Given the description of an element on the screen output the (x, y) to click on. 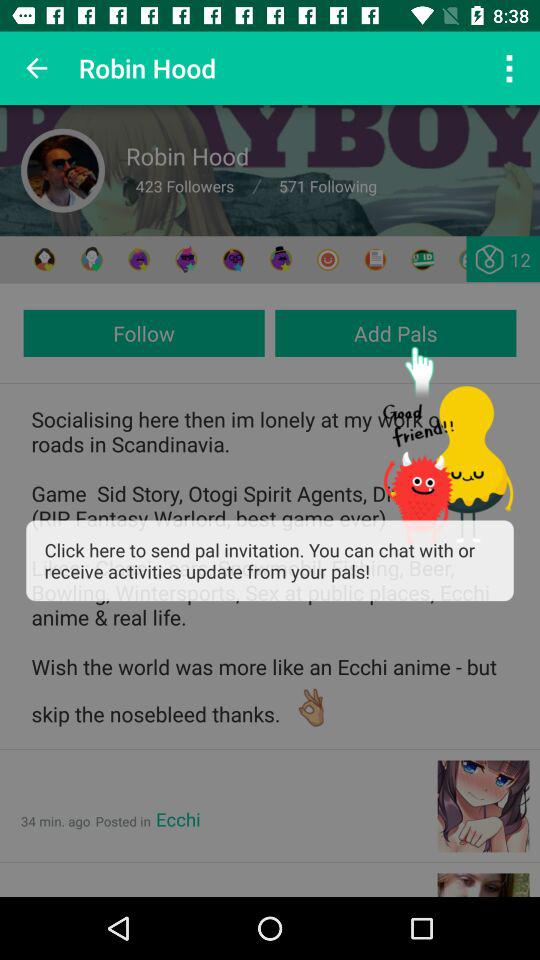
view friend profile (44, 259)
